Given the description of an element on the screen output the (x, y) to click on. 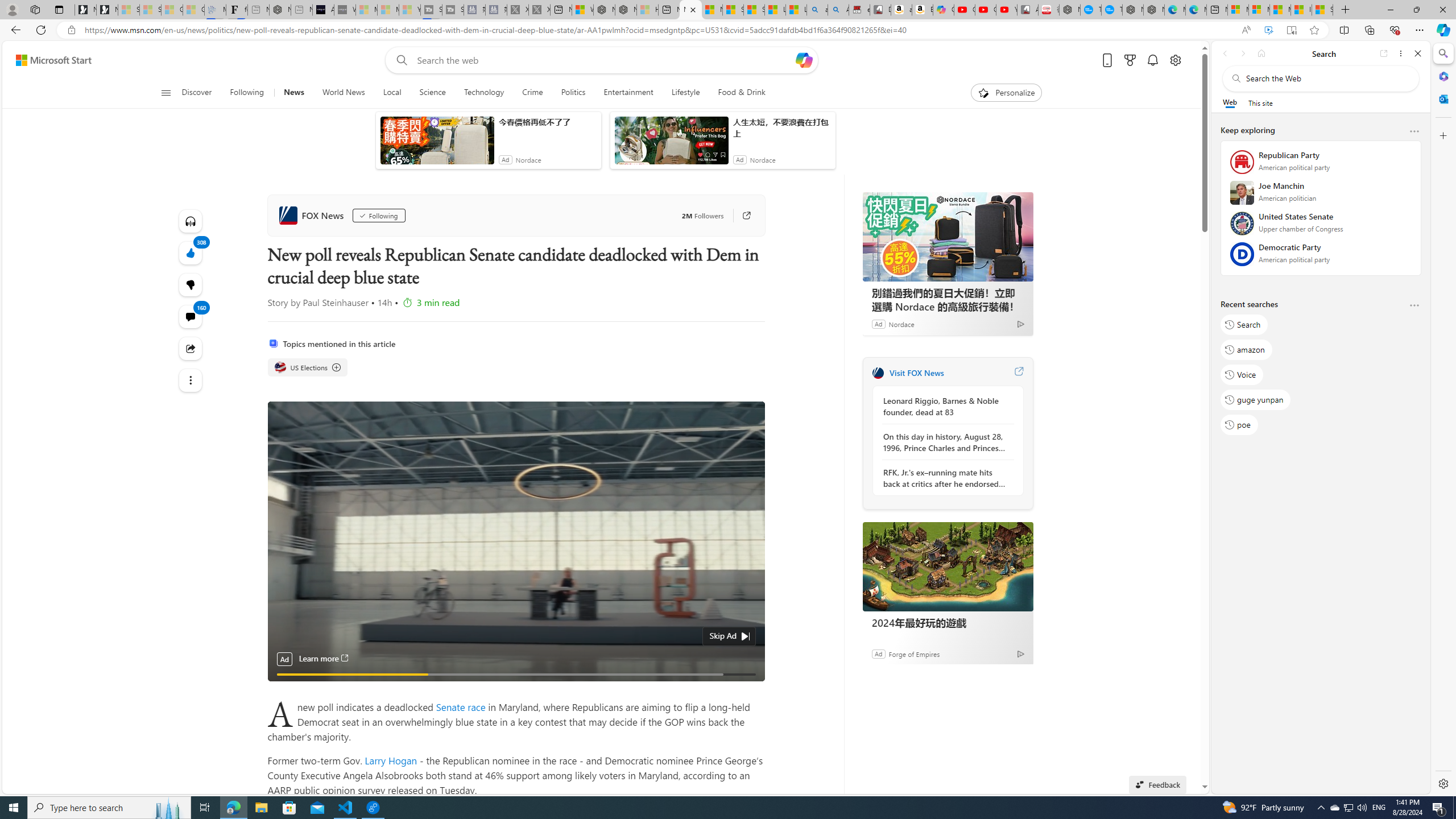
FOX News (877, 372)
Politics (572, 92)
The most popular Google 'how to' searches (1111, 9)
Unmute (749, 688)
View comments 160 Comment (190, 316)
